Given the description of an element on the screen output the (x, y) to click on. 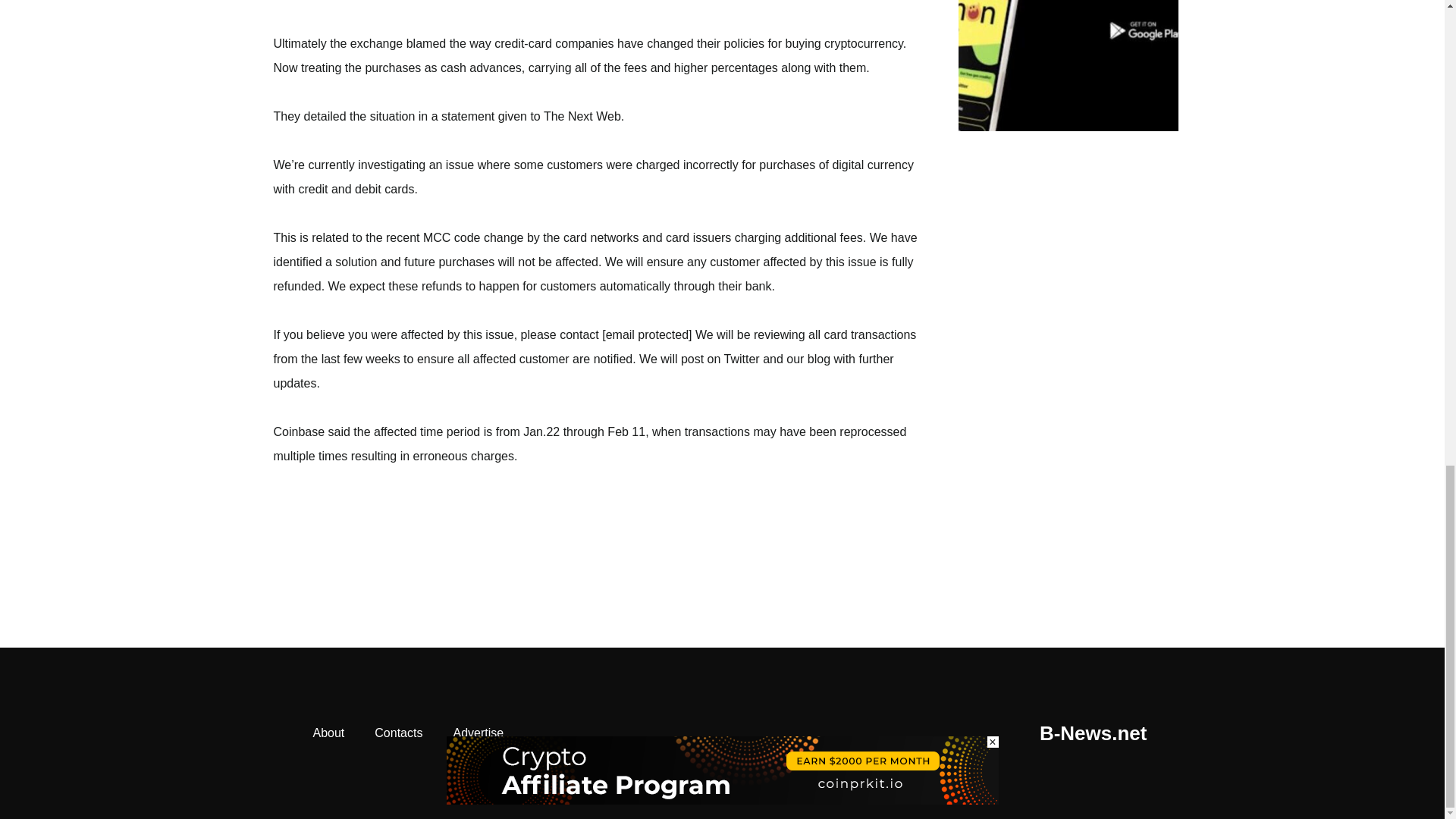
Advertise (478, 733)
About (328, 733)
Contacts (398, 733)
